Given the description of an element on the screen output the (x, y) to click on. 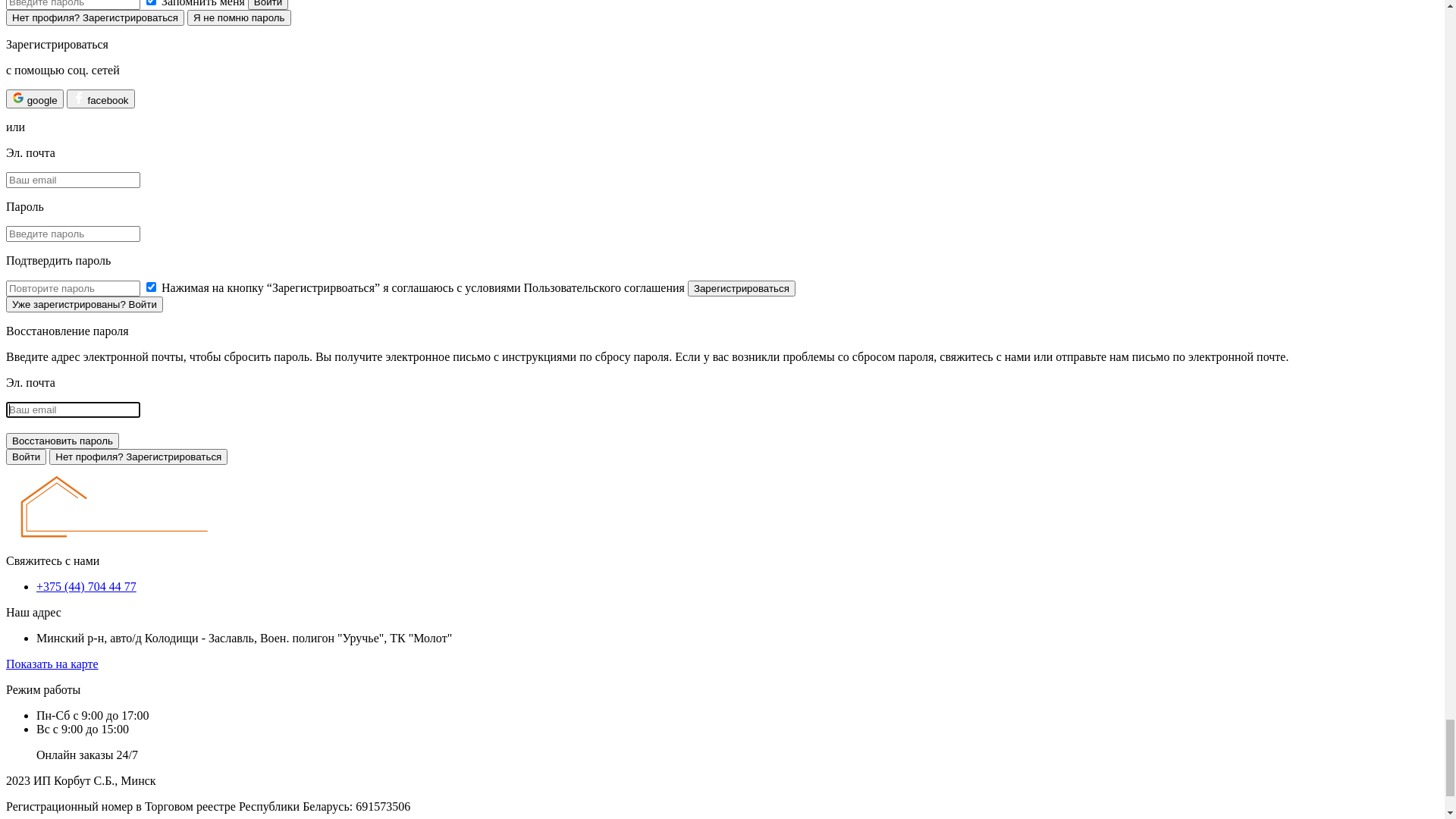
+375 (44) 704 44 77 Element type: text (69, 737)
